Given the description of an element on the screen output the (x, y) to click on. 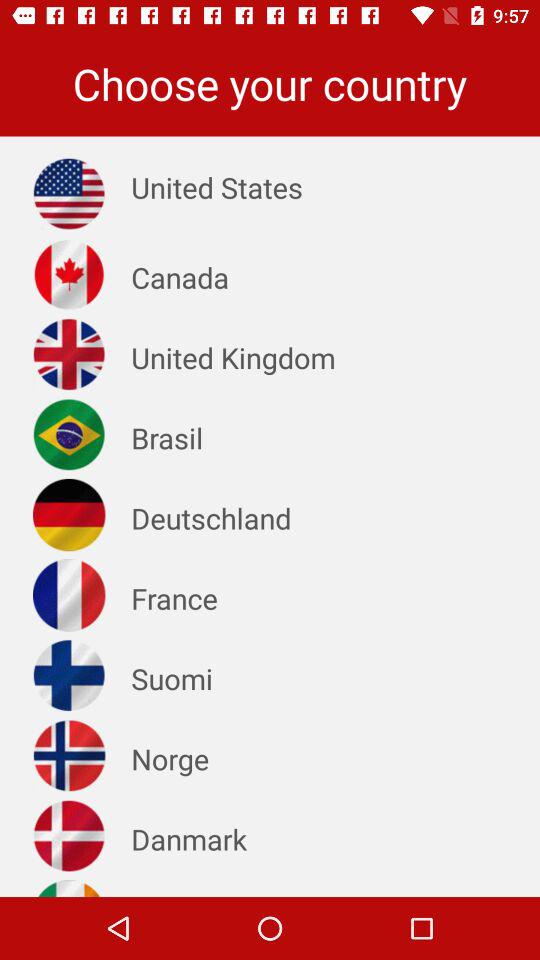
symbol beside canada (68, 274)
